Given the description of an element on the screen output the (x, y) to click on. 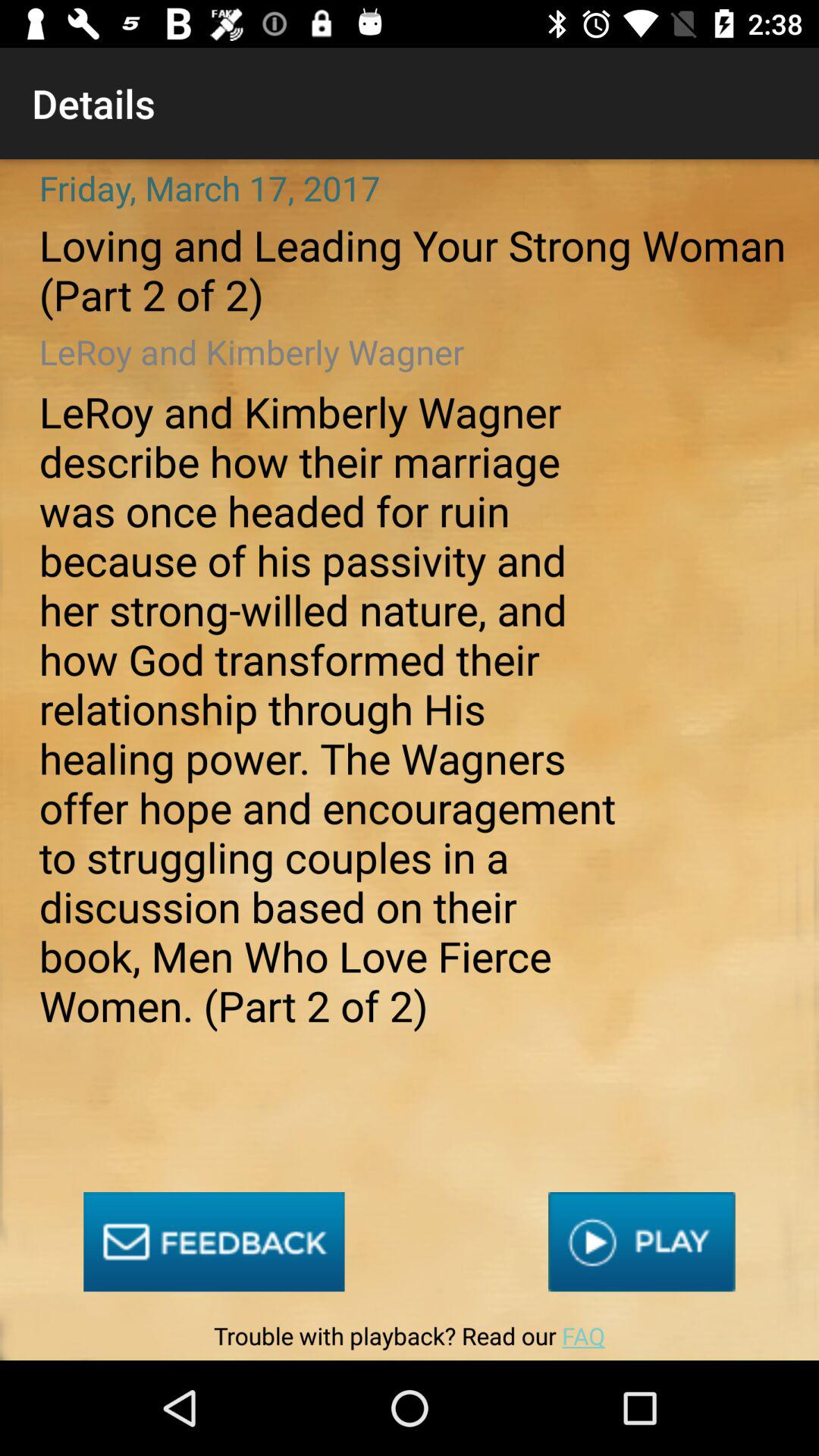
turn off item below leroy and kimberly (213, 1241)
